Given the description of an element on the screen output the (x, y) to click on. 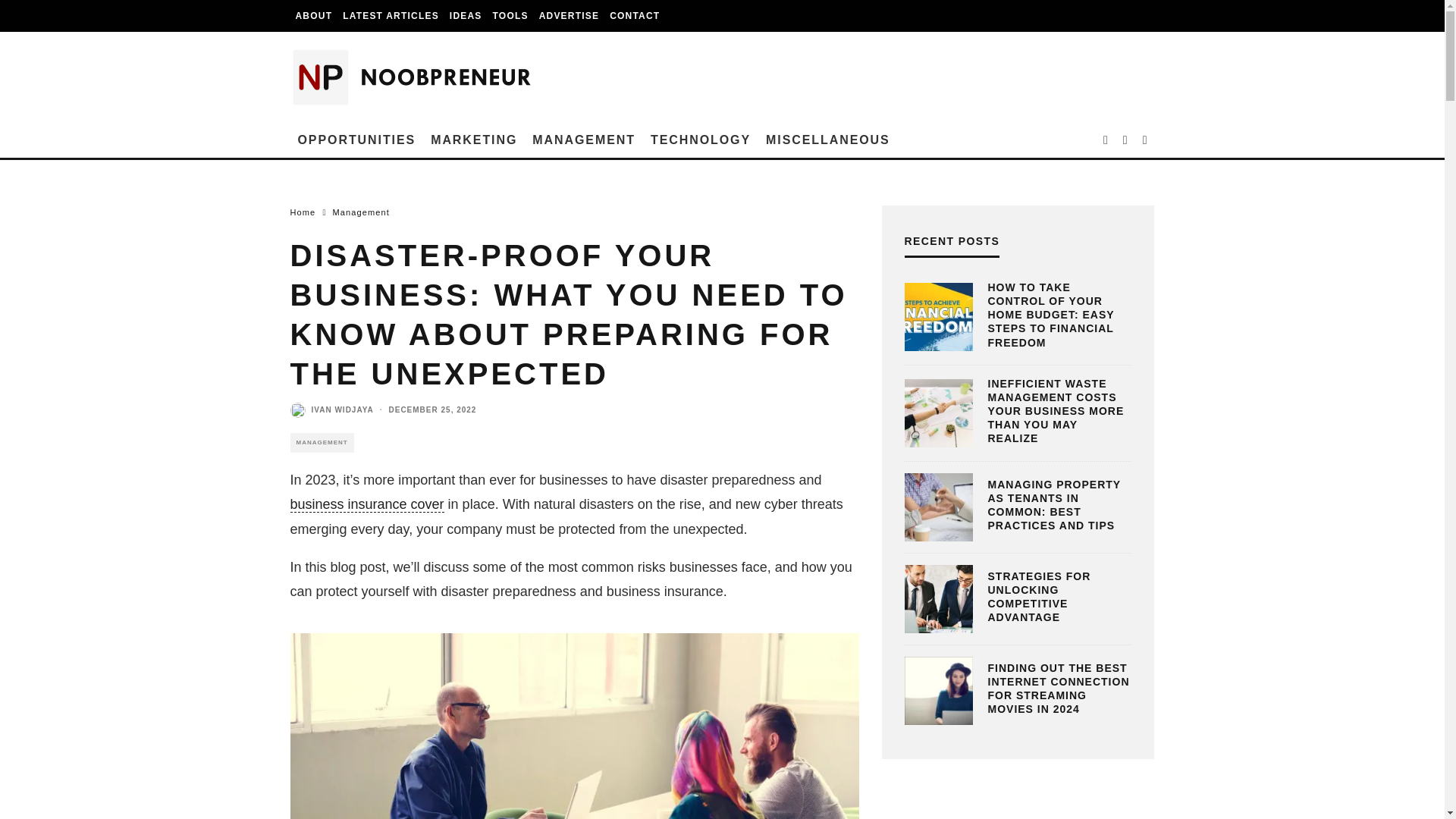
CONTACT (634, 15)
IDEAS (465, 15)
TOOLS (510, 15)
OPPORTUNITIES (356, 140)
ADVERTISE (569, 15)
MARKETING (473, 140)
Business Opportunities (356, 140)
MANAGEMENT (583, 140)
Information Technology (700, 140)
LATEST ARTICLES (390, 15)
ABOUT (313, 15)
Other Business News and Tips (828, 140)
Business Marketing (473, 140)
Business Management (583, 140)
Small Business Apps (510, 15)
